Given the description of an element on the screen output the (x, y) to click on. 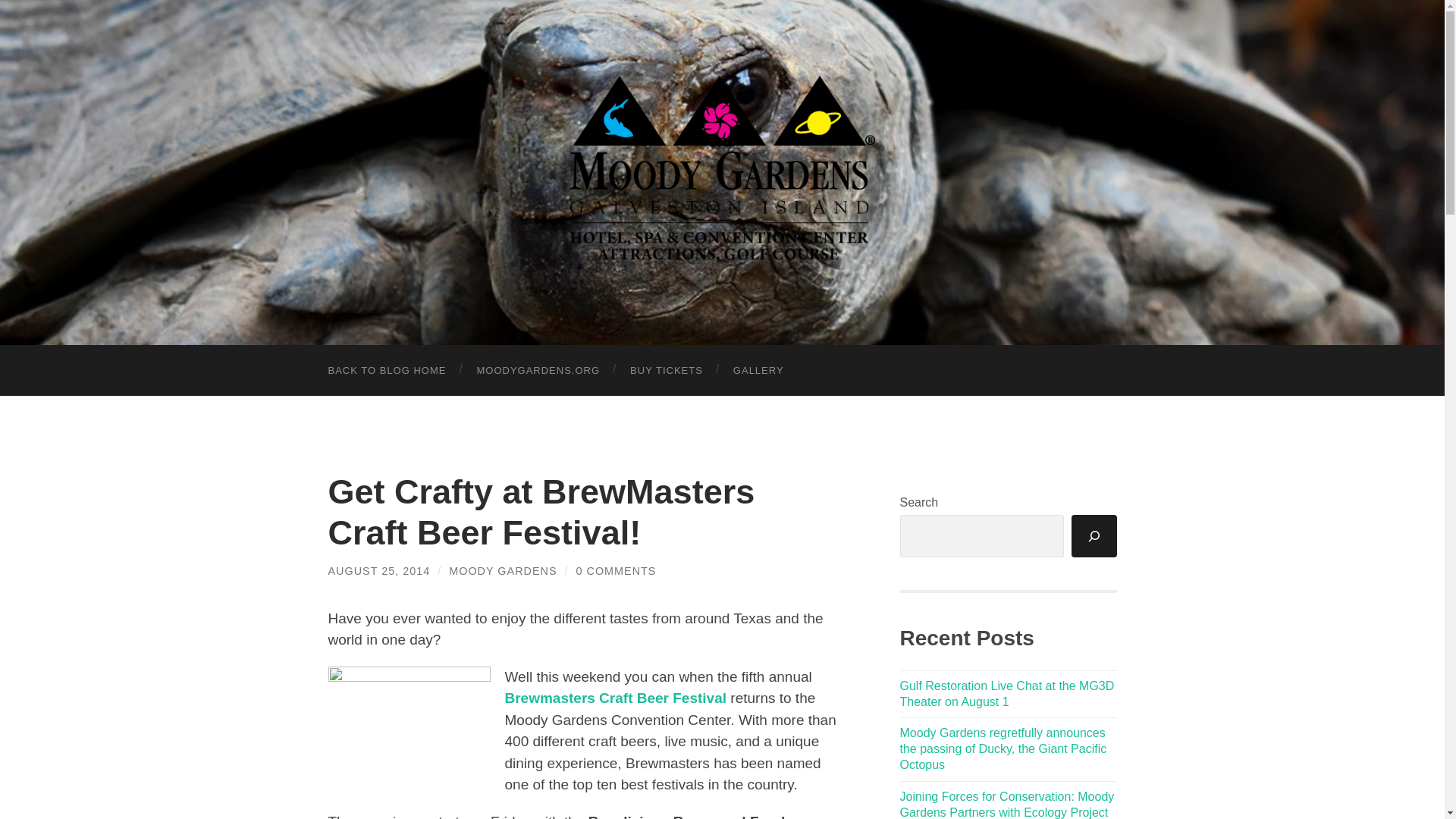
Moody Gardens (722, 170)
BACK TO BLOG HOME (387, 369)
MOODY GARDENS (502, 571)
GALLERY (758, 369)
MOODYGARDENS.ORG (537, 369)
Posts by Moody Gardens (502, 571)
Brewmasters Craft Beer Festival (615, 697)
BUY TICKETS (665, 369)
AUGUST 25, 2014 (378, 571)
0 COMMENTS (616, 571)
